Given the description of an element on the screen output the (x, y) to click on. 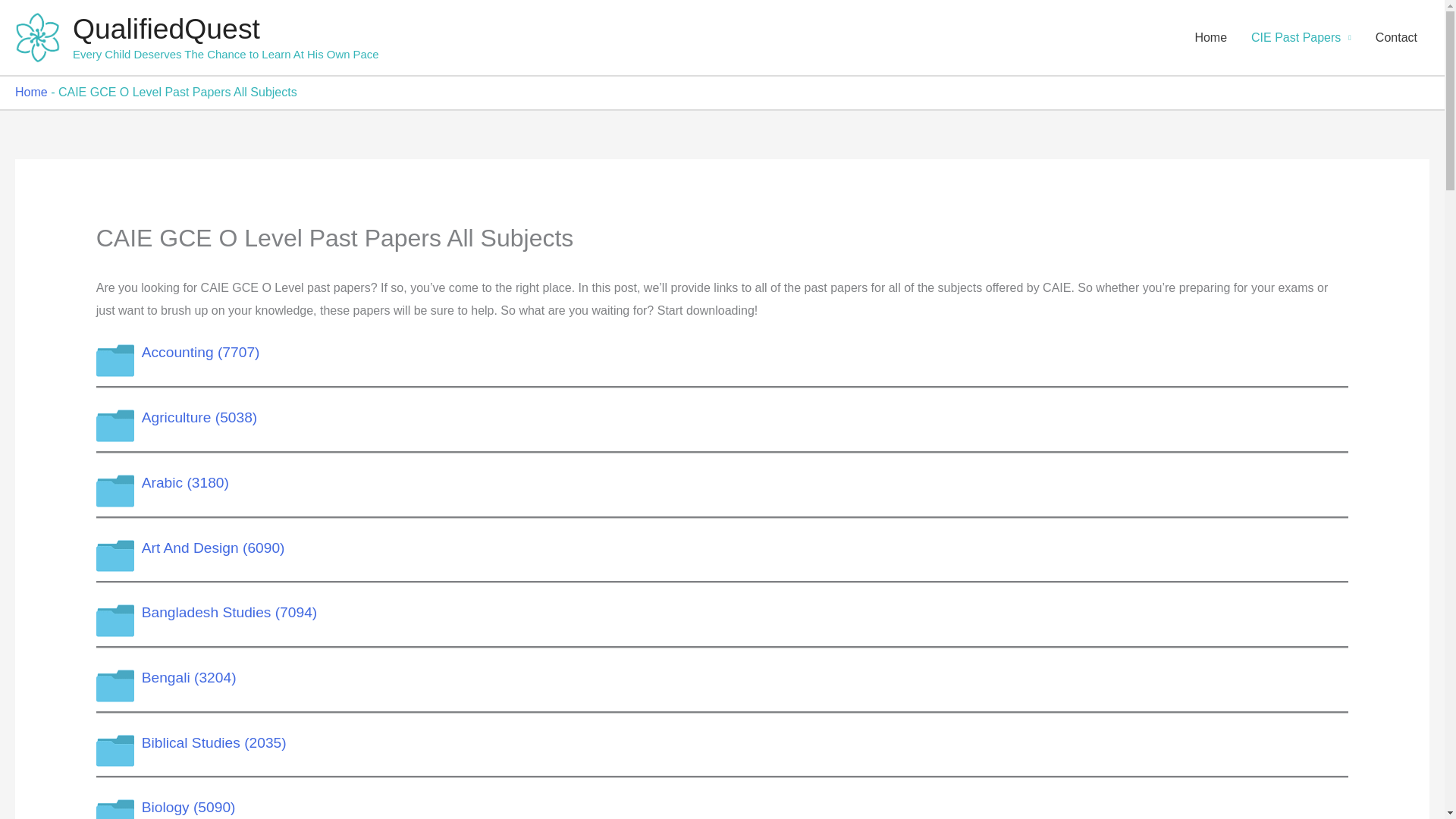
QualifiedQuest (166, 29)
Home (1210, 37)
CIE Past Papers (1300, 37)
Contact (1395, 37)
Home (31, 91)
